Given the description of an element on the screen output the (x, y) to click on. 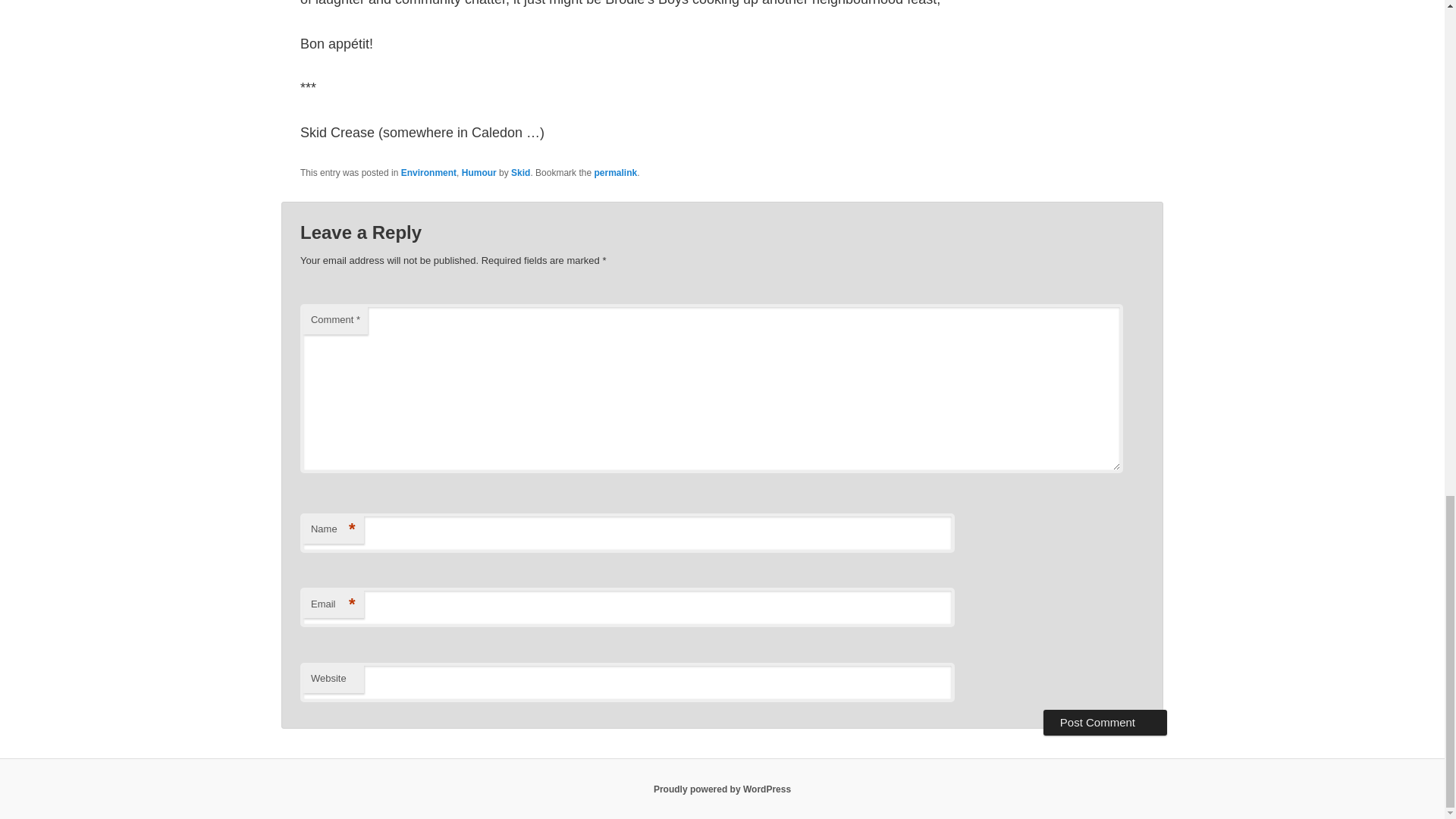
permalink (615, 172)
Permalink to Brodie and the BBQ Boys (615, 172)
Skid (520, 172)
Post Comment (1105, 722)
Humour (478, 172)
Proudly powered by WordPress (721, 788)
Environment (429, 172)
Post Comment (1105, 722)
Semantic Personal Publishing Platform (721, 788)
